Given the description of an element on the screen output the (x, y) to click on. 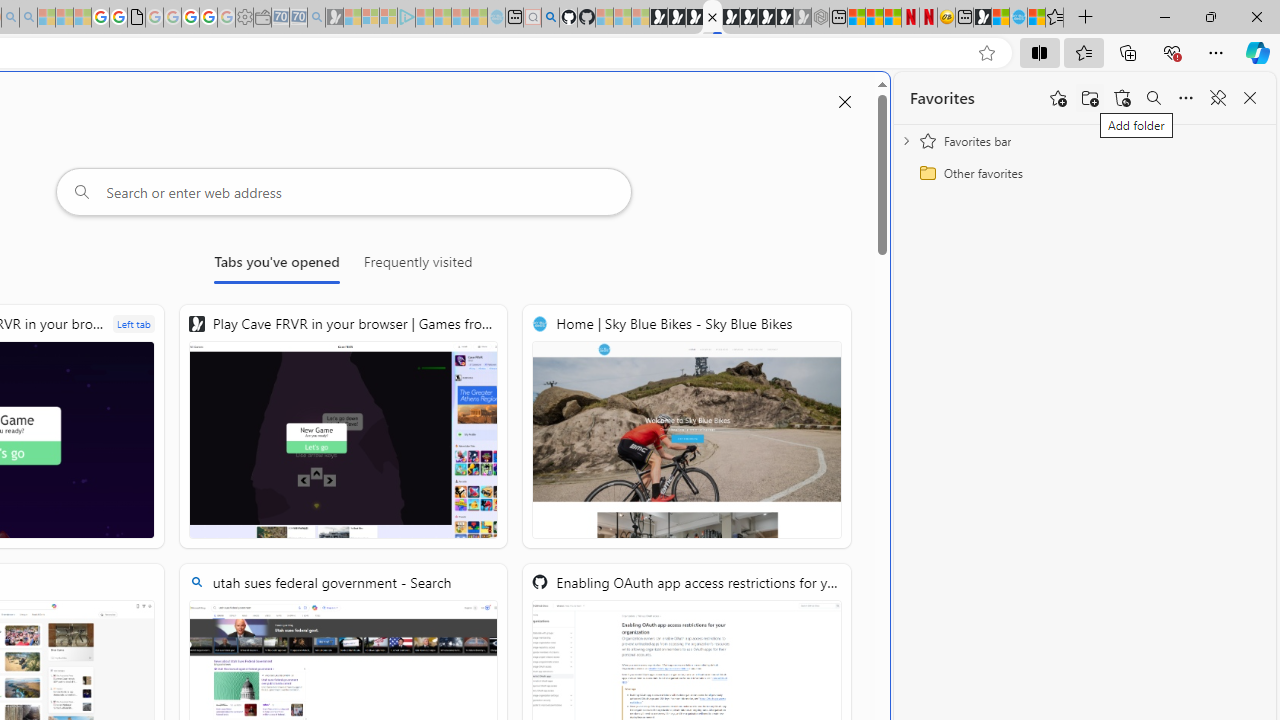
Unpin favorites (1217, 98)
Add this page to favorites (1058, 98)
